Given the description of an element on the screen output the (x, y) to click on. 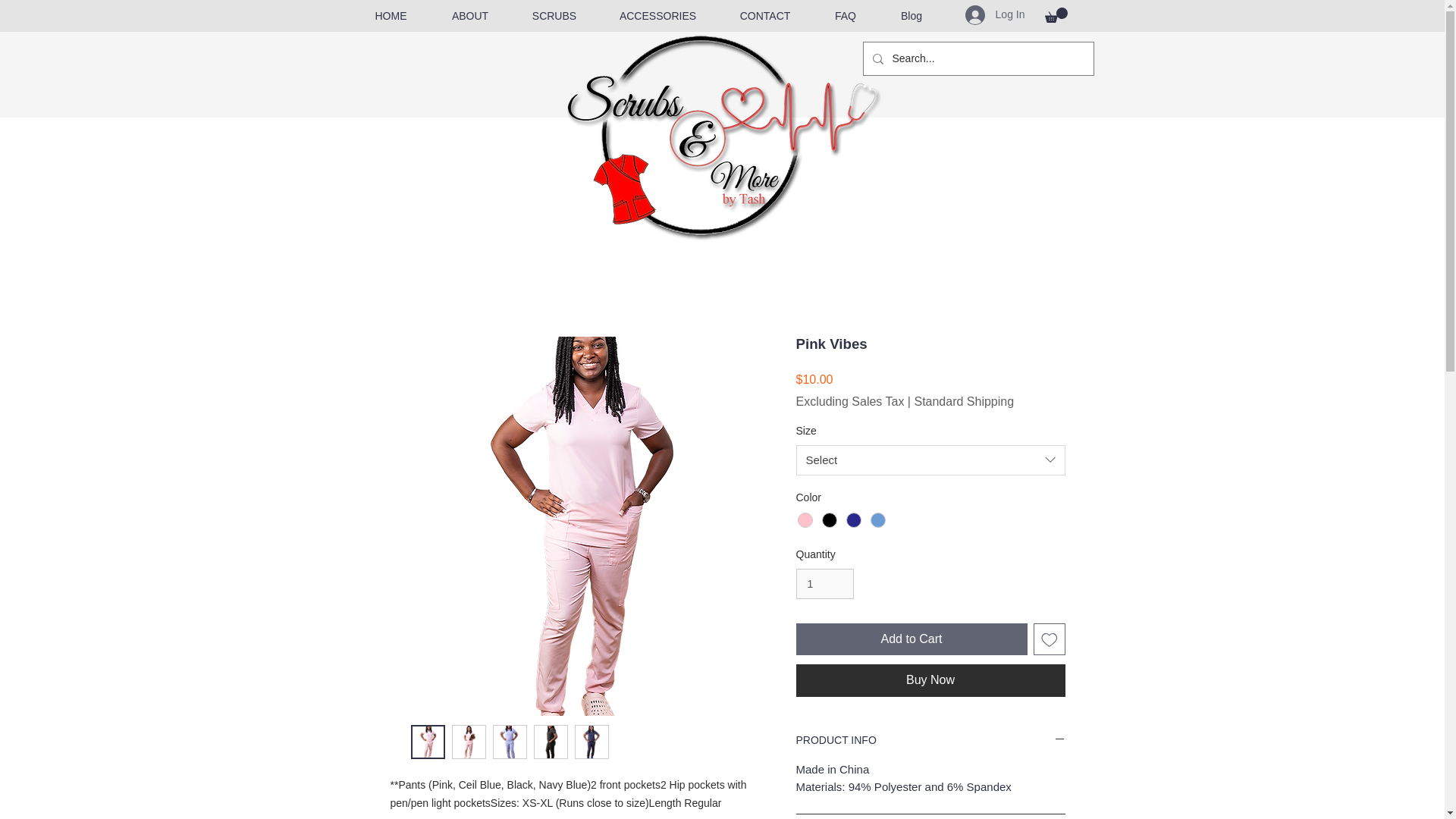
HOME (390, 16)
Blog (910, 16)
Add to Cart (911, 639)
ACCESSORIES (656, 16)
ABOUT (470, 16)
Select (930, 460)
PRODUCT INFO (930, 741)
Log In (995, 14)
FAQ (845, 16)
Buy Now (930, 680)
SCRUBS (554, 16)
CONTACT (764, 16)
Standard Shipping (963, 401)
1 (824, 583)
